Given the description of an element on the screen output the (x, y) to click on. 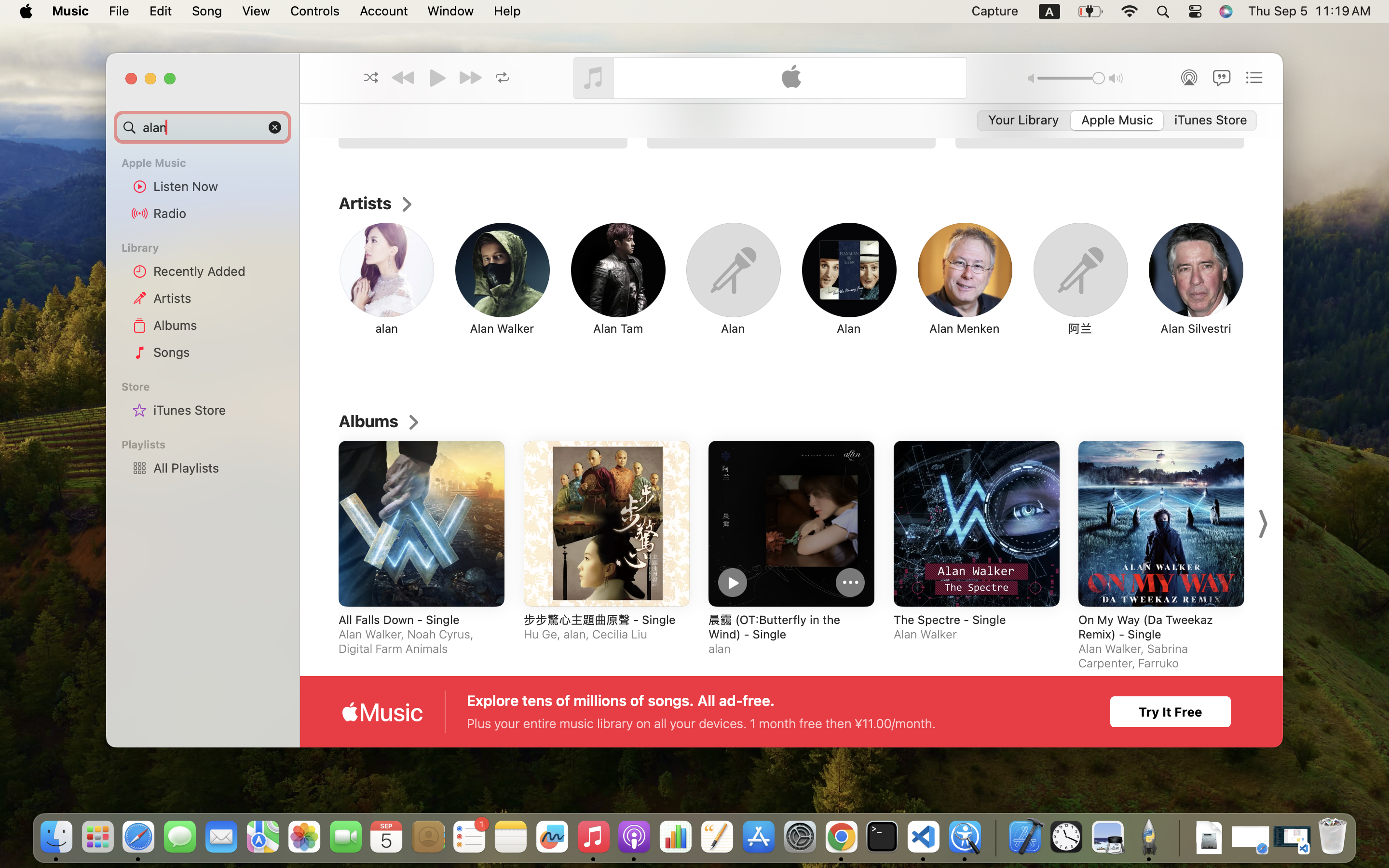
Albums Element type: AXStaticText (217, 324)
All Falls Down Element type: AXStaticText (745, 749)
阿兰 Element type: AXStaticText (1079, 328)
Faded Element type: AXStaticText (415, 749)
